Given the description of an element on the screen output the (x, y) to click on. 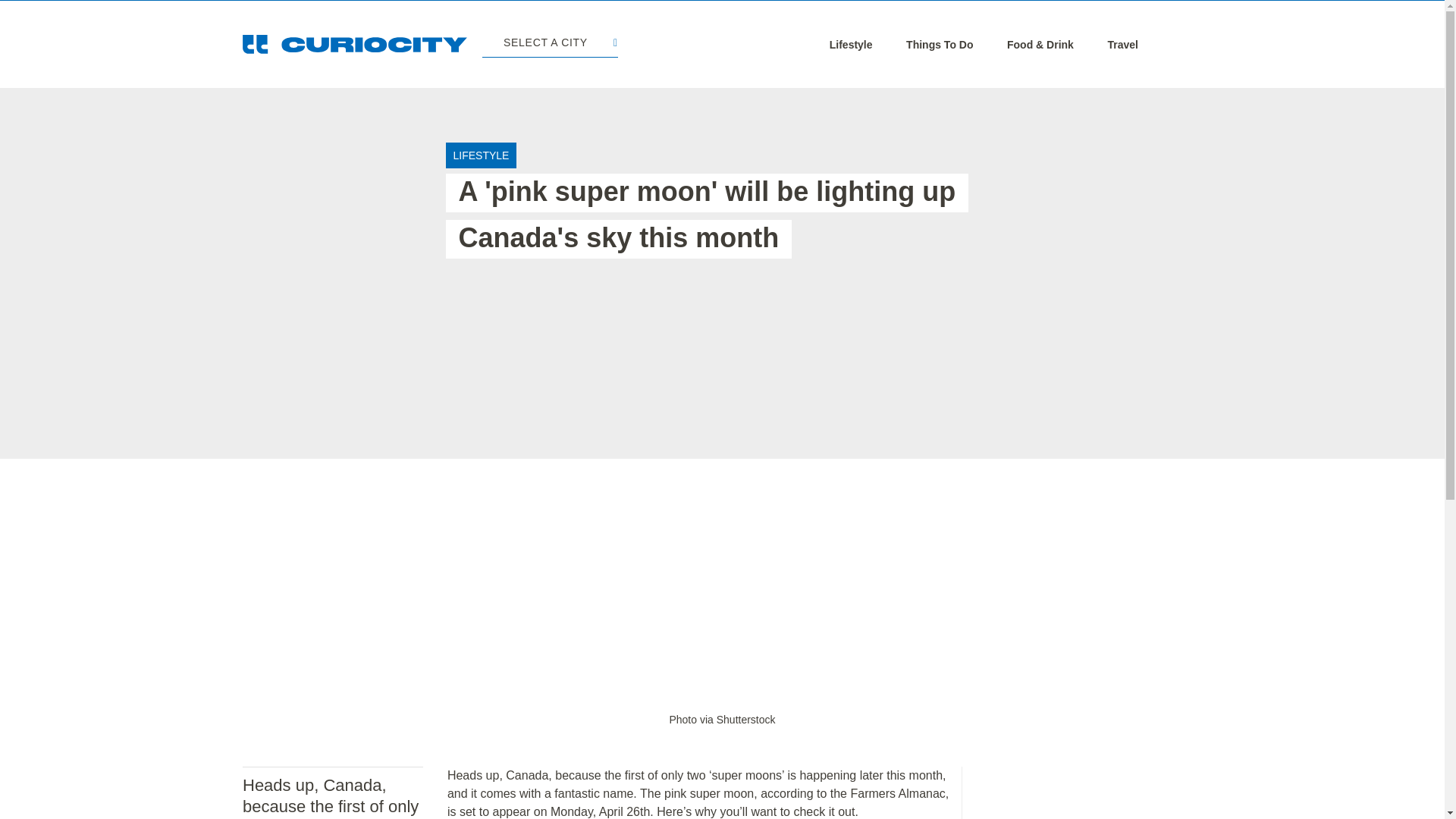
SELECT A CITY (549, 44)
curiocity-primary-logo-blue  (355, 44)
Things To Do (938, 44)
Travel (1121, 44)
Lifestyle (850, 44)
goes to Home (355, 43)
